Given the description of an element on the screen output the (x, y) to click on. 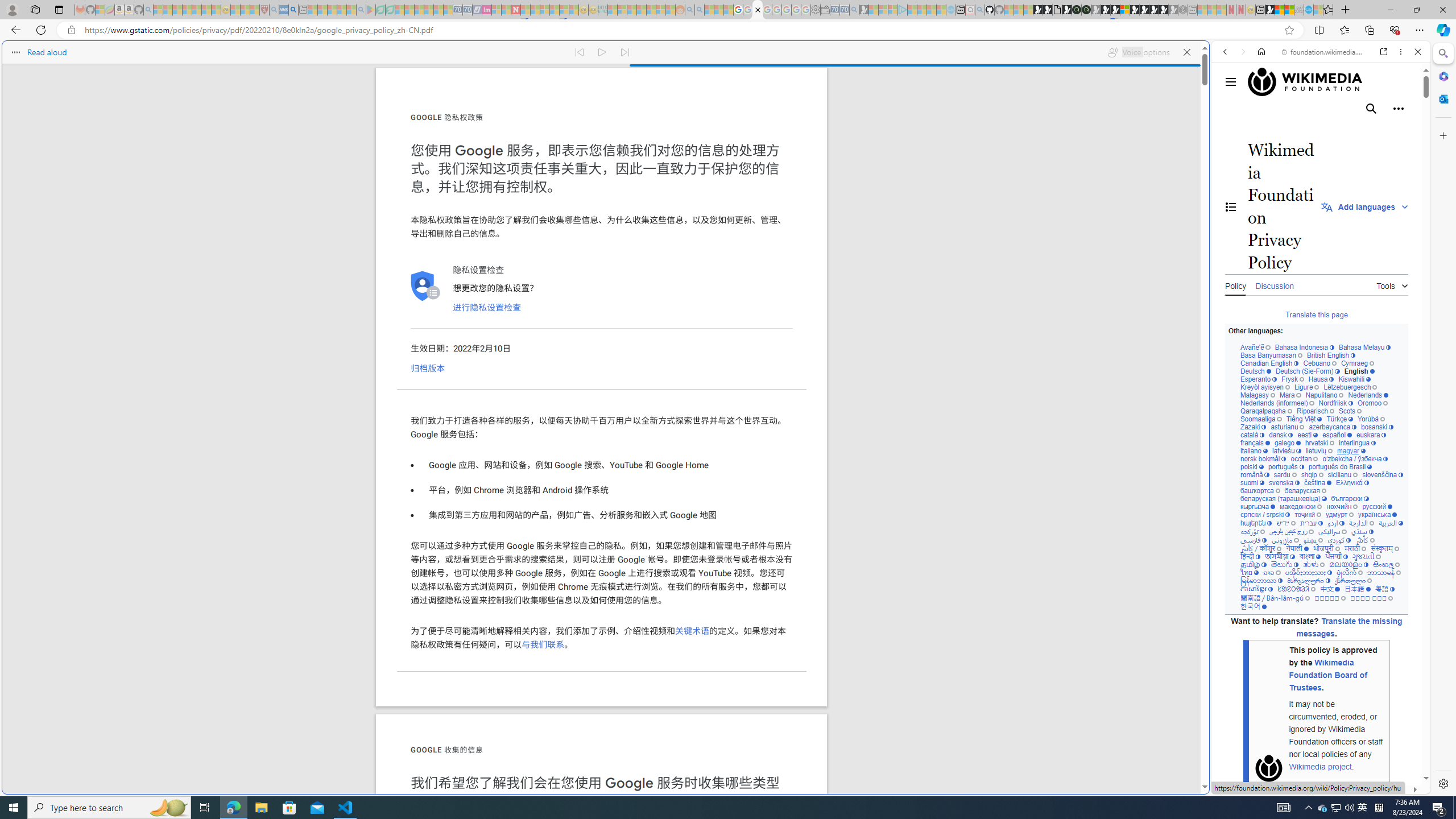
Malagasy (1257, 395)
Play Zoo Boom in your browser | Games from Microsoft Start (1047, 9)
Favorites - Sleeping (1327, 9)
